Given the description of an element on the screen output the (x, y) to click on. 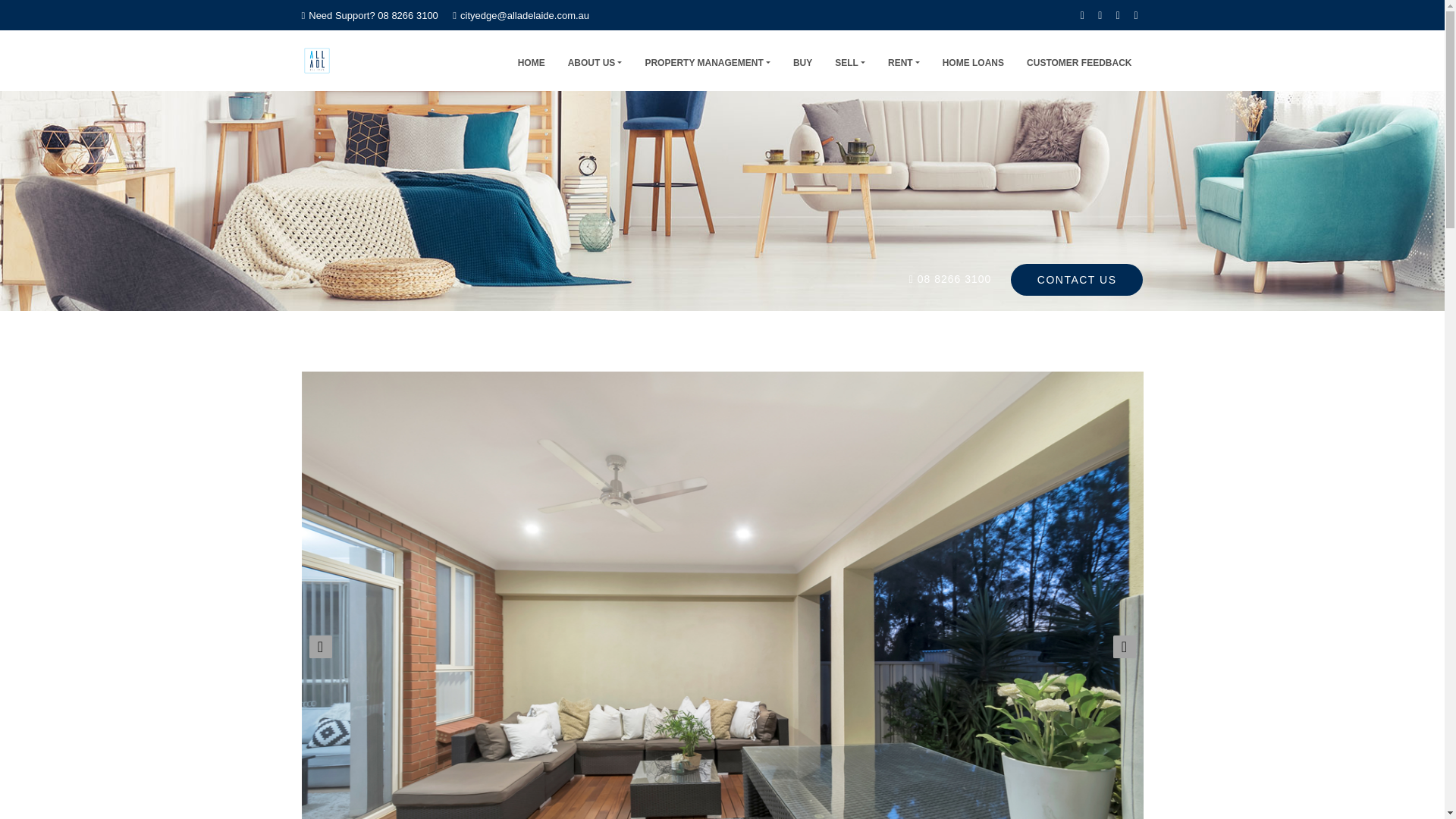
08 8266 3100 (954, 278)
ABOUT US (594, 60)
CONTACT US (1076, 279)
RENT (903, 60)
Need Support? 08 8266 3100 (369, 15)
HOME LOANS (972, 60)
CUSTOMER FEEDBACK (1078, 60)
PROPERTY MANAGEMENT (707, 60)
